Given the description of an element on the screen output the (x, y) to click on. 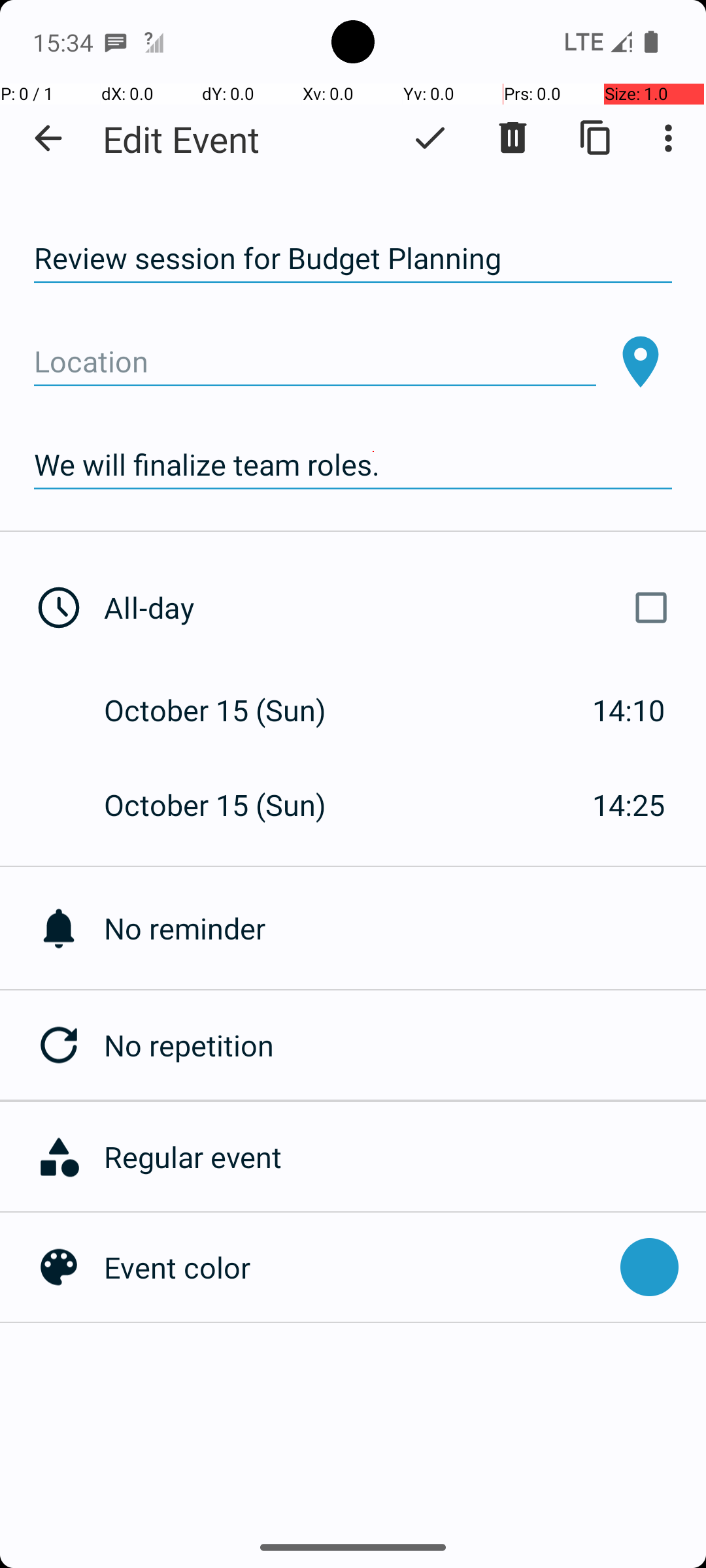
We will finalize team roles. Element type: android.widget.EditText (352, 465)
14:10 Element type: android.widget.TextView (628, 709)
14:25 Element type: android.widget.TextView (628, 804)
